Given the description of an element on the screen output the (x, y) to click on. 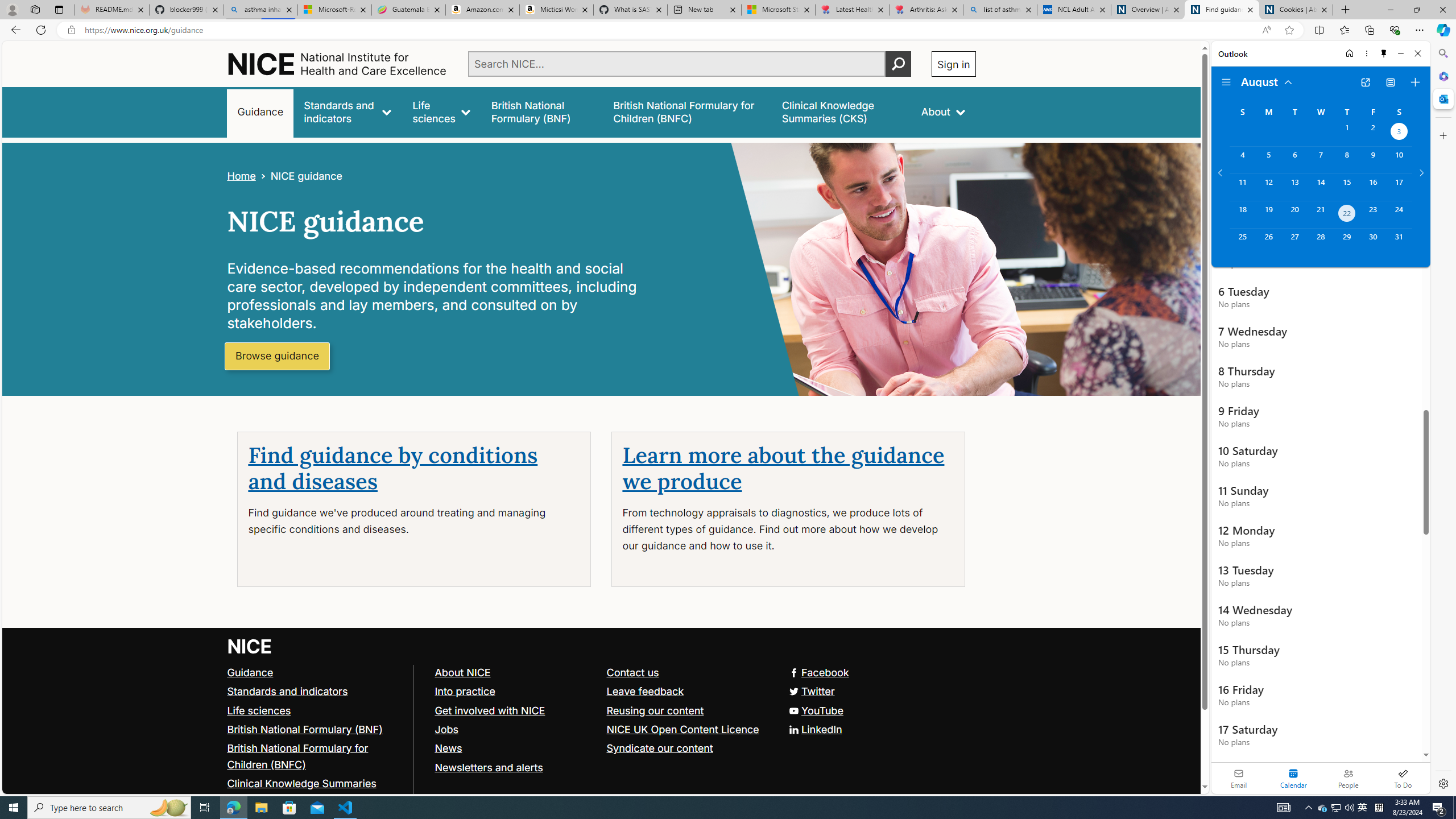
Workspaces (34, 9)
Tuesday, August 20, 2024.  (1294, 214)
App bar (728, 29)
Life sciences (259, 710)
Saturday, August 31, 2024.  (1399, 241)
British National Formulary for Children (BNFC) (297, 756)
Jobs (445, 729)
Thursday, August 22, 2024. Today.  (1346, 214)
Perform search (898, 63)
Saturday, August 17, 2024.  (1399, 186)
Wednesday, August 14, 2024.  (1320, 186)
